Given the description of an element on the screen output the (x, y) to click on. 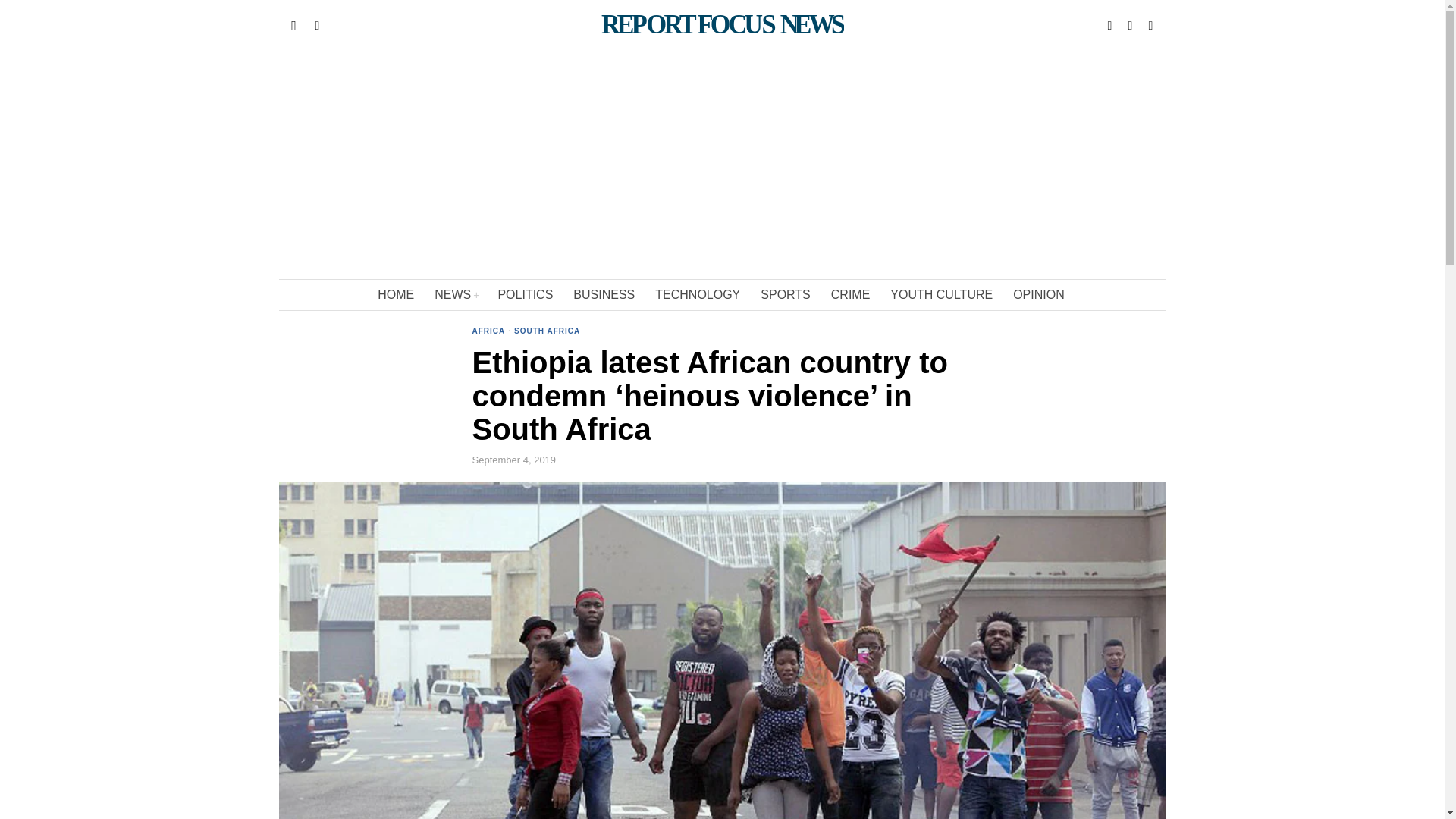
AFRICA (488, 331)
SOUTH AFRICA (546, 331)
NEWS (456, 295)
SPORTS (786, 295)
YOUTH CULTURE (942, 295)
POLITICS (525, 295)
BUSINESS (605, 295)
HOME (396, 295)
OPINION (1039, 295)
